Given the description of an element on the screen output the (x, y) to click on. 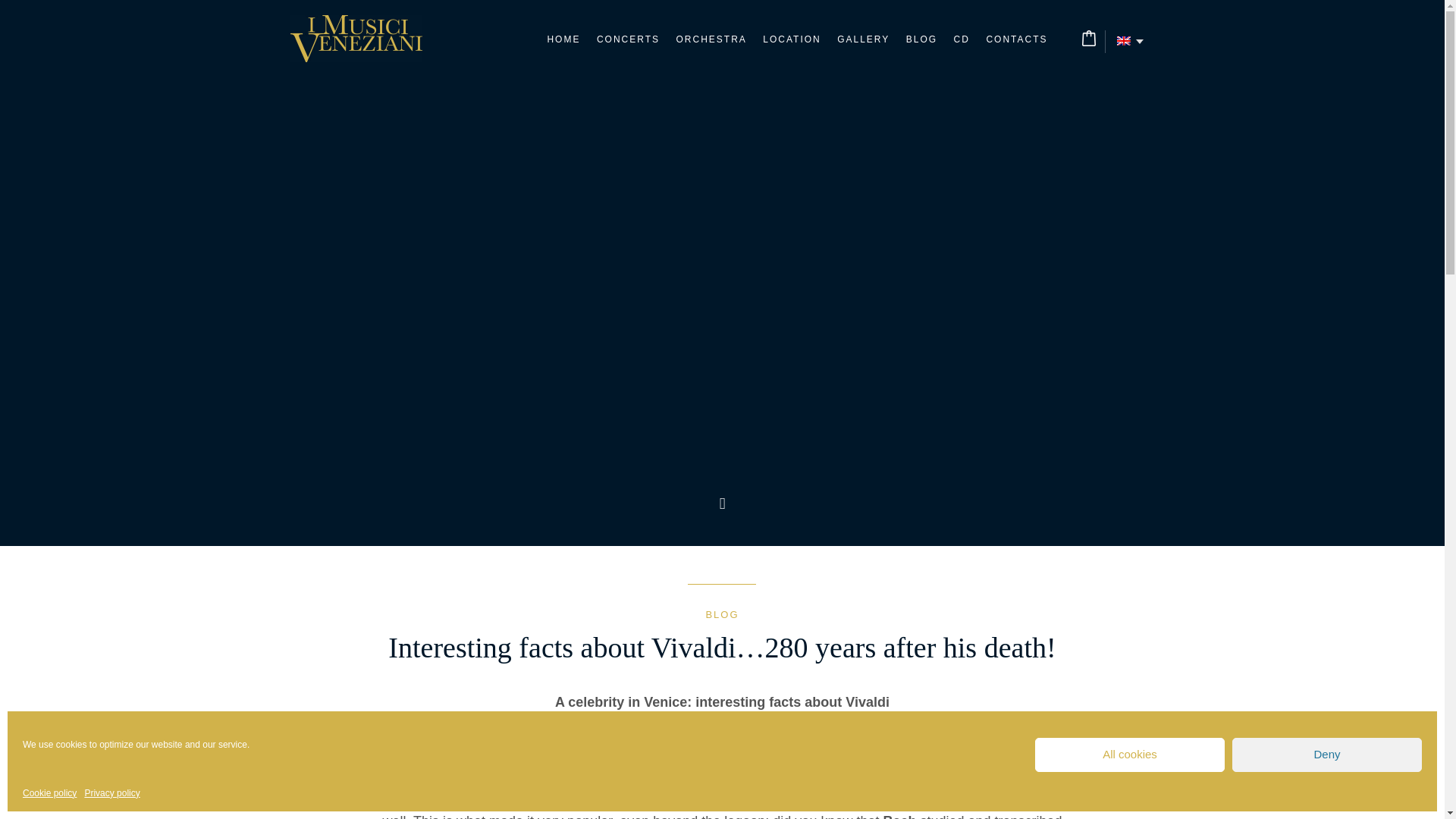
Gallery (863, 39)
CONTACTS (1015, 39)
BLOG (721, 614)
I Musici Veneziani - Orchestra in costume del XVIII secolo (355, 38)
HOME (563, 39)
Concerts (627, 39)
BLOG (921, 39)
CD (961, 39)
Orchestra (710, 39)
GALLERY (863, 39)
